Given the description of an element on the screen output the (x, y) to click on. 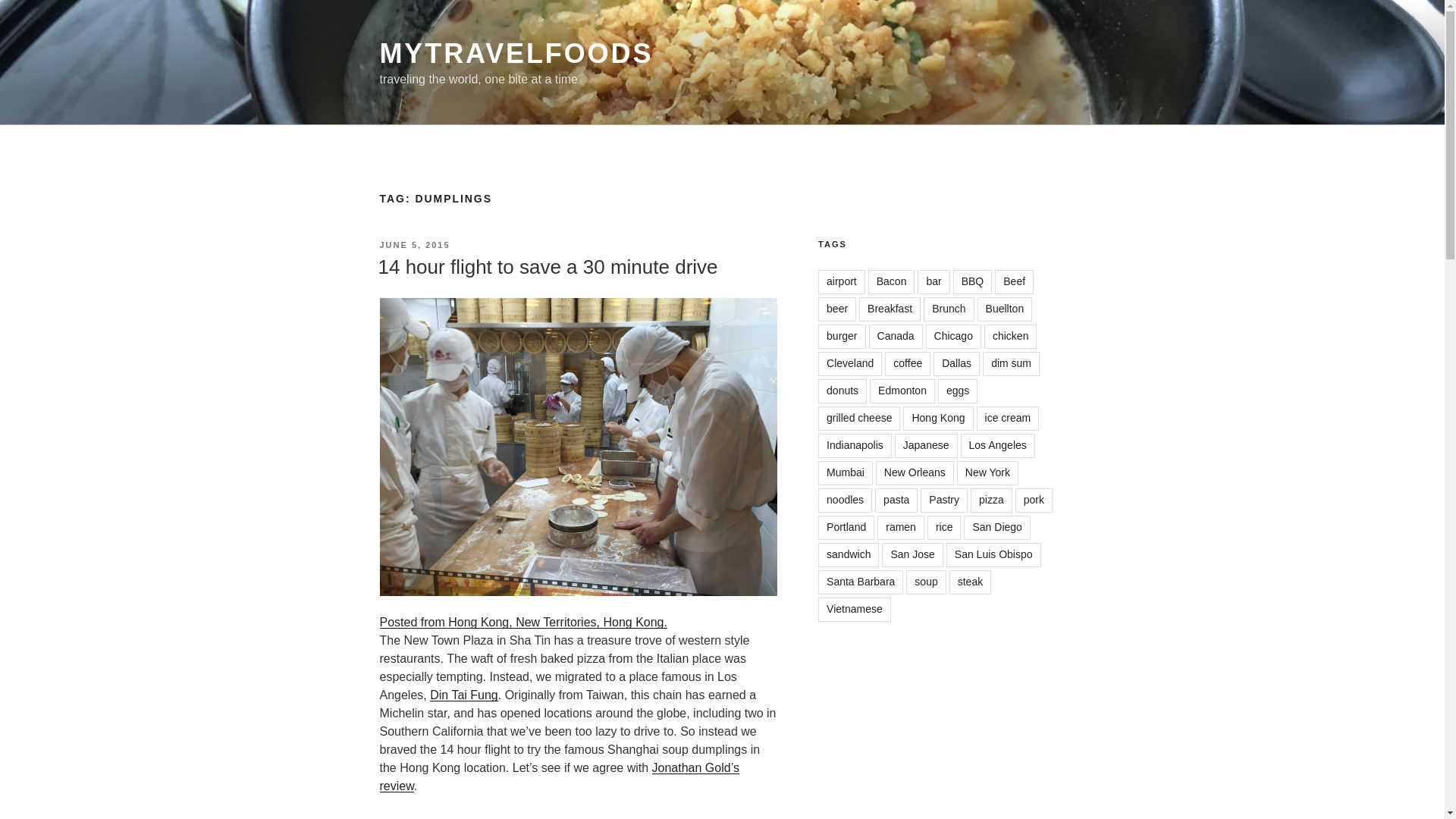
ice cream (1007, 418)
Edmonton (901, 391)
Posted from Hong Kong, New Territories, Hong Kong. (522, 621)
eggs (956, 391)
Canada (896, 336)
chicken (1010, 336)
Chicago (953, 336)
Hong Kong (937, 418)
Japanese (926, 445)
MYTRAVELFOODS (515, 52)
grilled cheese (858, 418)
Cleveland (850, 363)
14 hour flight to save a 30 minute drive (547, 266)
Dallas (956, 363)
beer (837, 309)
